Given the description of an element on the screen output the (x, y) to click on. 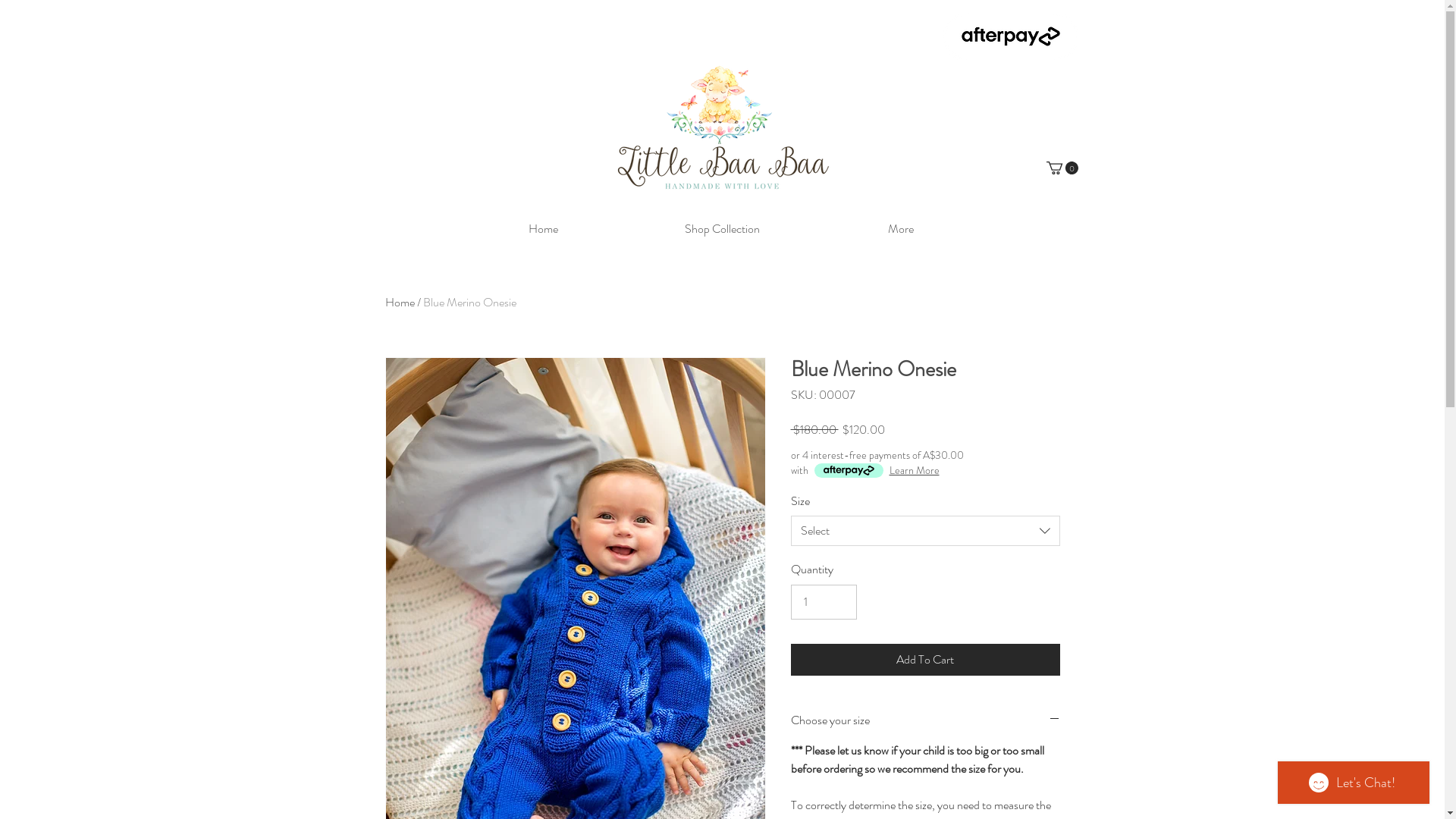
Home Element type: text (399, 301)
Choose your size Element type: text (924, 720)
Learn More Element type: text (913, 469)
Blue Merino Onesie Element type: text (469, 301)
0 Element type: text (1062, 167)
Shop Collection Element type: text (721, 228)
Add To Cart Element type: text (924, 659)
Select Element type: text (924, 530)
Home Element type: text (542, 228)
